Given the description of an element on the screen output the (x, y) to click on. 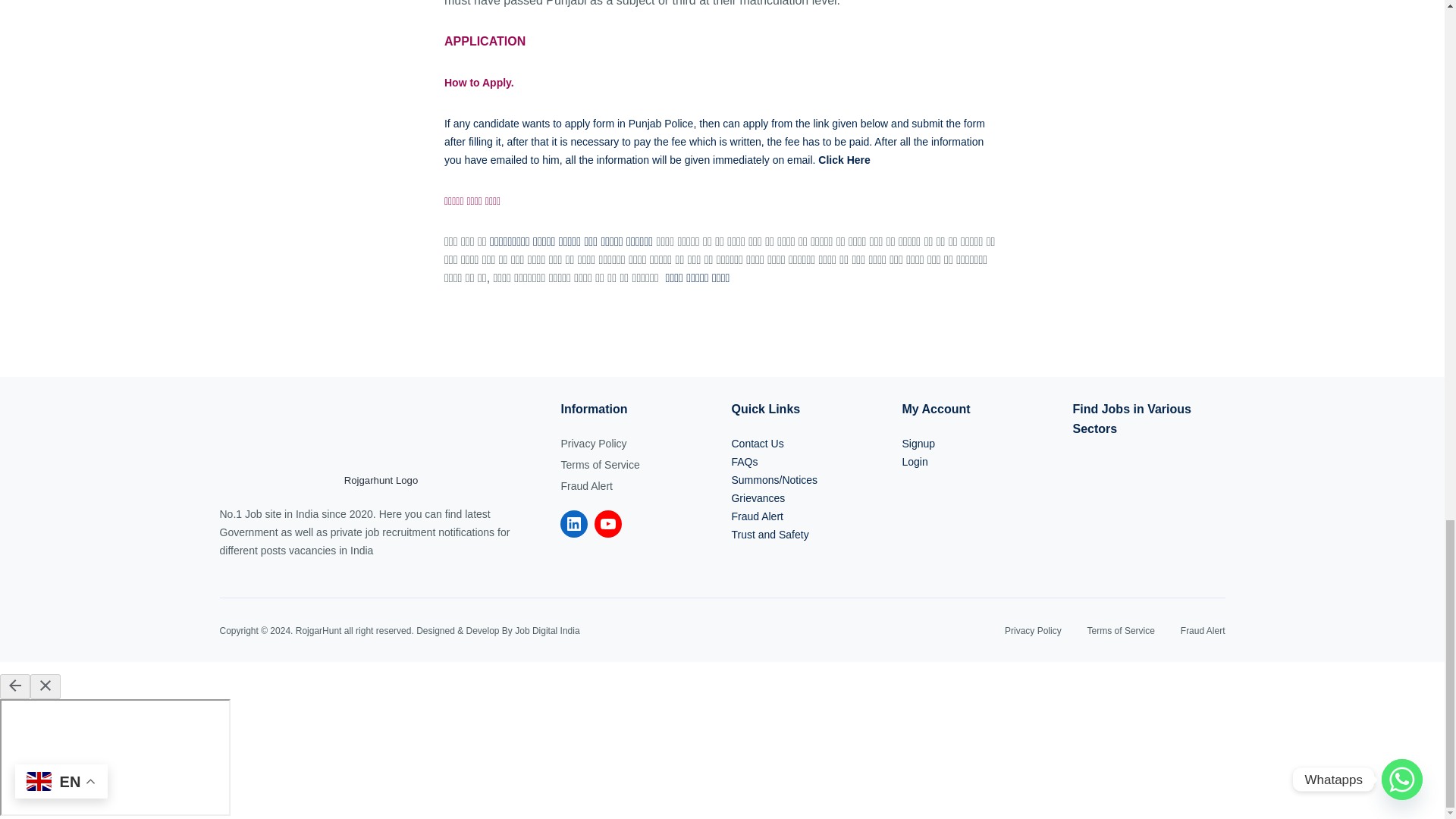
Click Here (843, 159)
Fraud Alert (756, 516)
Hospitality Jobs (1148, 457)
How to Apply.  (480, 82)
B2C (1205, 457)
LinkedIn (574, 523)
FAQs (743, 461)
Login (914, 461)
MNC (1090, 515)
Privacy Policy (1032, 630)
Terms of Service (599, 464)
Privacy Policy (593, 443)
Signup (917, 443)
Trust and Safety (769, 534)
Airline Jobs (1148, 515)
